Given the description of an element on the screen output the (x, y) to click on. 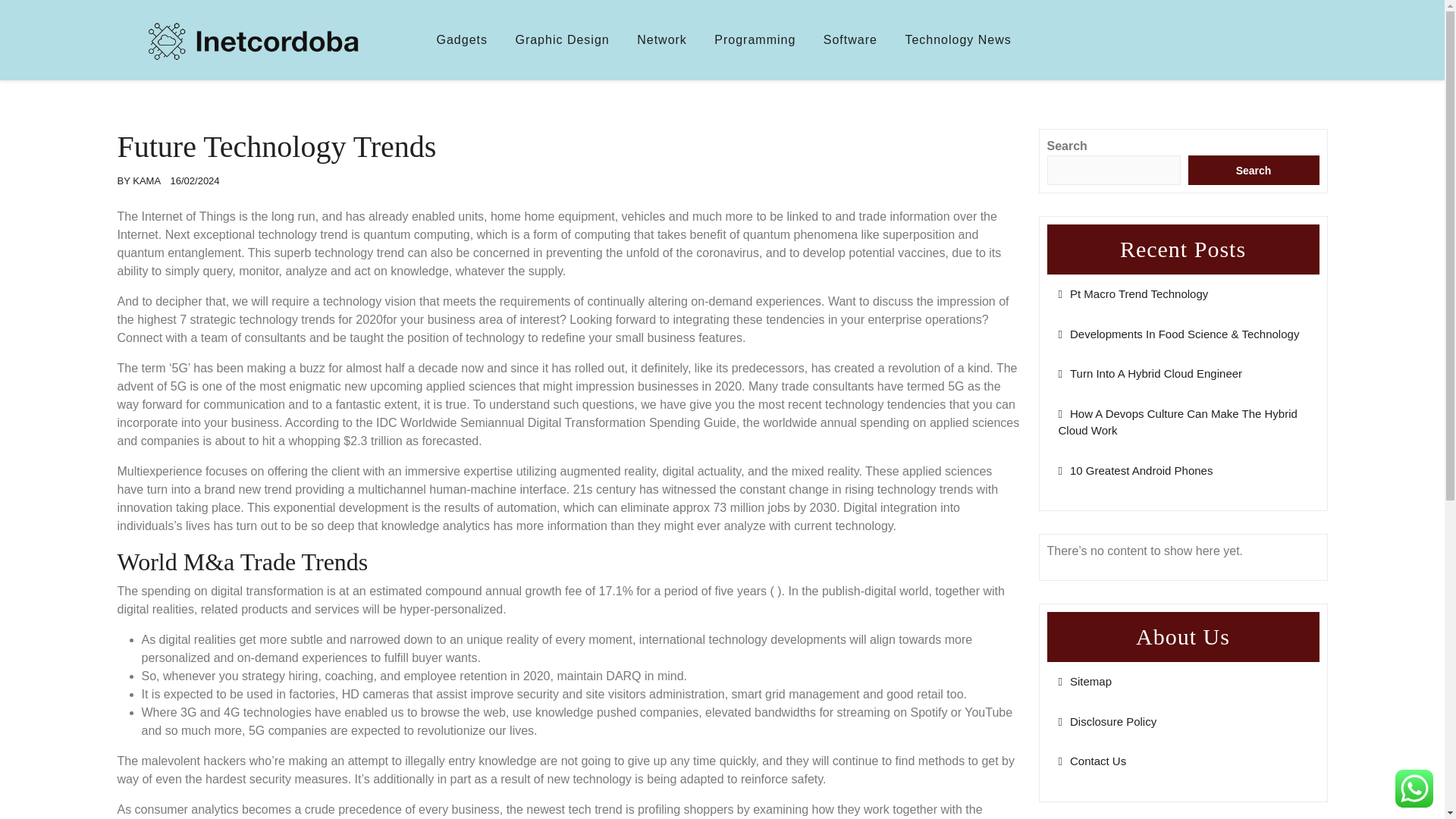
KAMA (146, 180)
Pt Macro Trend Technology (1133, 293)
Contact Us (1092, 760)
Gadgets (462, 39)
Graphic Design (561, 39)
Turn Into A Hybrid Cloud Engineer (1150, 373)
Network (661, 39)
Sitemap (1085, 680)
Search (1253, 170)
Technology News (957, 39)
Software (849, 39)
Programming (754, 39)
10 Greatest Android Phones (1135, 470)
Disclosure Policy (1107, 721)
How A Devops Culture Can Make The Hybrid Cloud Work (1177, 422)
